Given the description of an element on the screen output the (x, y) to click on. 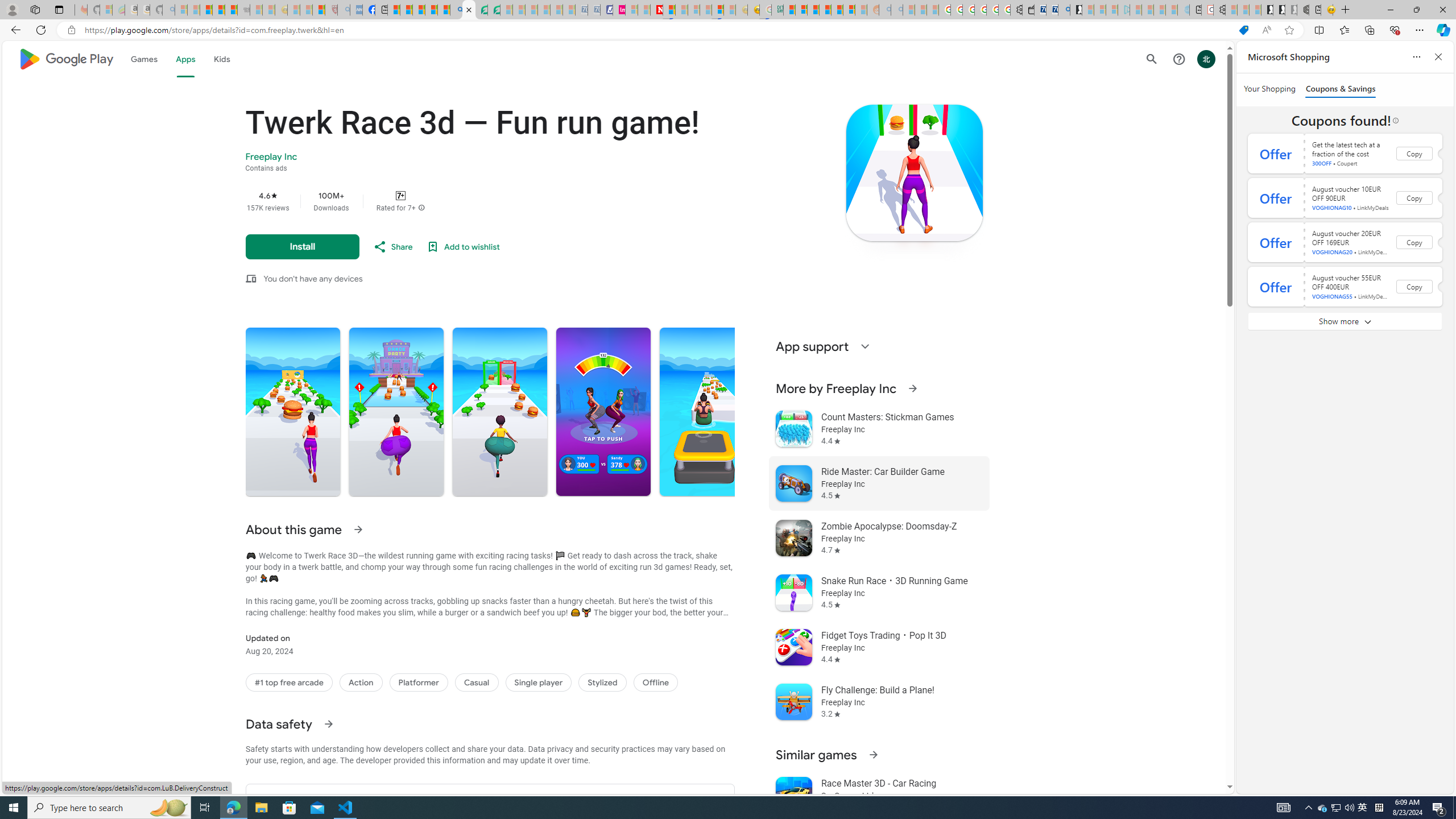
Expert Portfolios (824, 9)
google - Search (456, 9)
Jobs - lastminute.com Investor Portal (619, 9)
Kinda Frugal - MSN (837, 9)
Cheap Hotels - Save70.com - Sleeping (593, 9)
New tab (1315, 9)
Games (142, 58)
Refresh (40, 29)
Workspaces (34, 9)
14 Common Myths Debunked By Scientific Facts - Sleeping (682, 9)
